Given the description of an element on the screen output the (x, y) to click on. 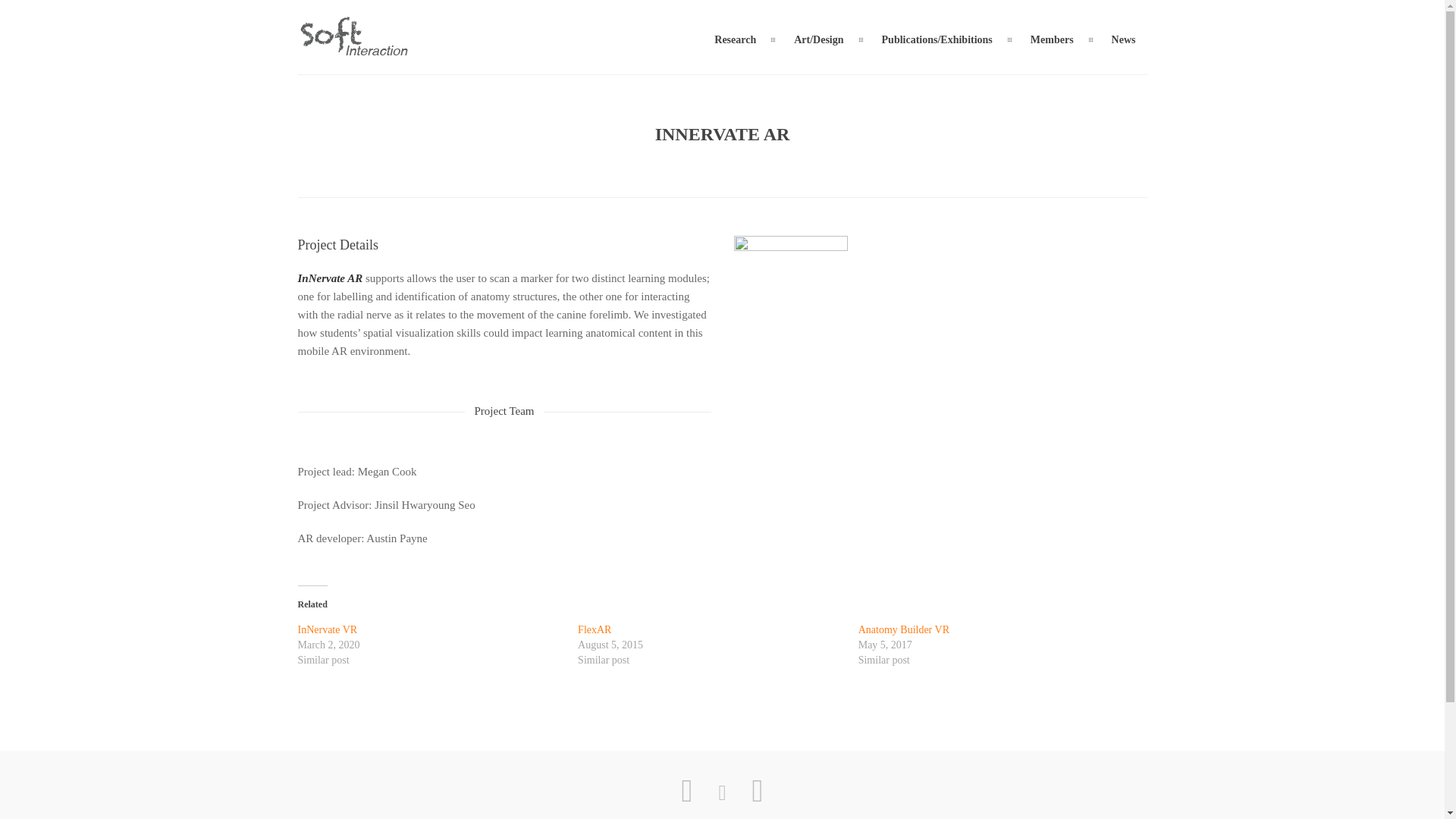
InNervate VR (326, 629)
Members (1051, 39)
FlexAR (594, 629)
Research (735, 39)
Anatomy Builder VR (904, 629)
Anatomy Builder VR (904, 629)
FlexAR (594, 629)
Soft Interaction Lab (353, 50)
InNervate VR (326, 629)
News (1123, 39)
